Given the description of an element on the screen output the (x, y) to click on. 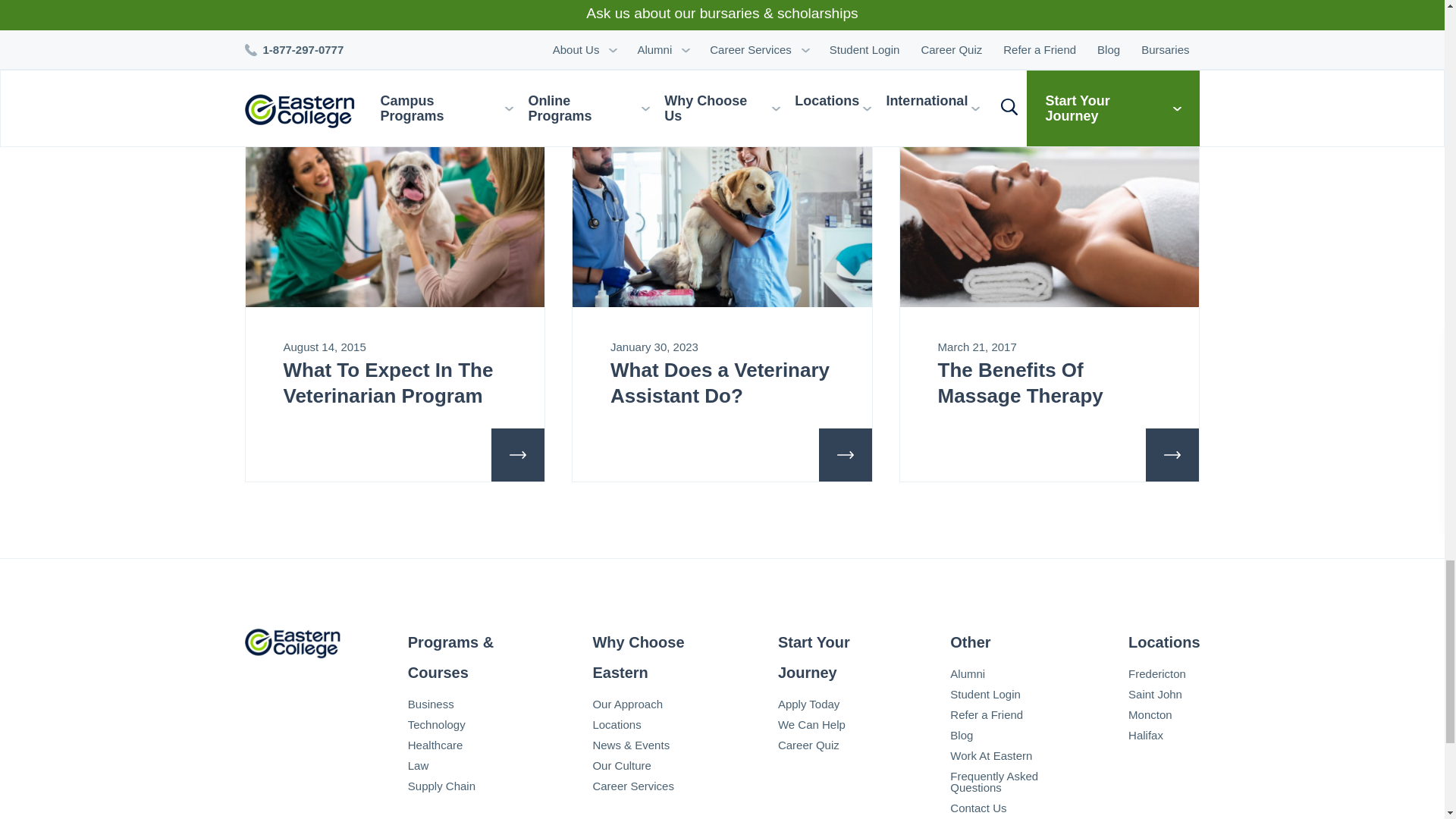
What To Expect In The Veterinarian Program (395, 212)
What Does a Veterinary Assistant Do? (722, 212)
The Benefits Of Massage Therapy (1049, 212)
